Given the description of an element on the screen output the (x, y) to click on. 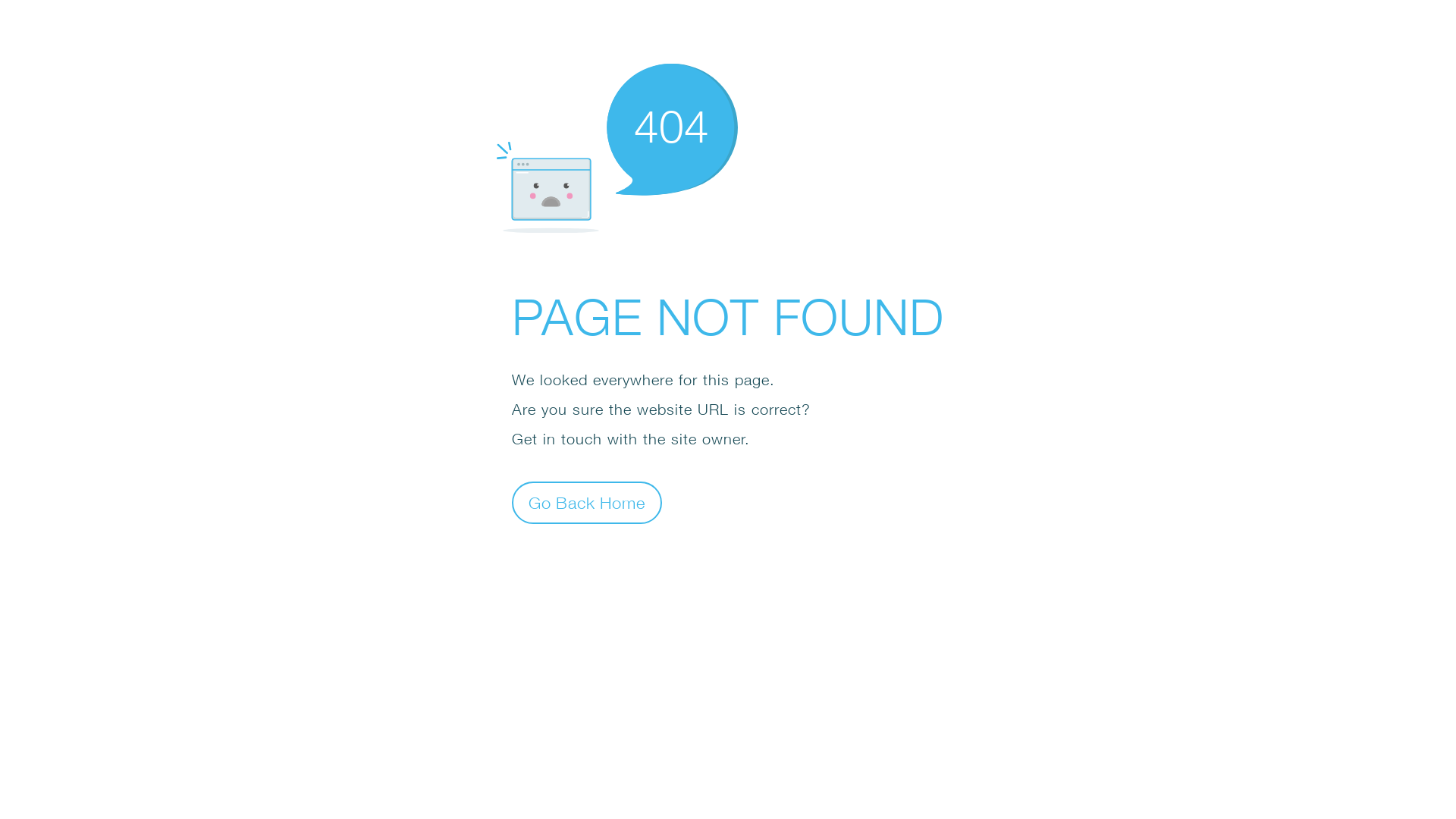
Go Back Home Element type: text (586, 502)
